Given the description of an element on the screen output the (x, y) to click on. 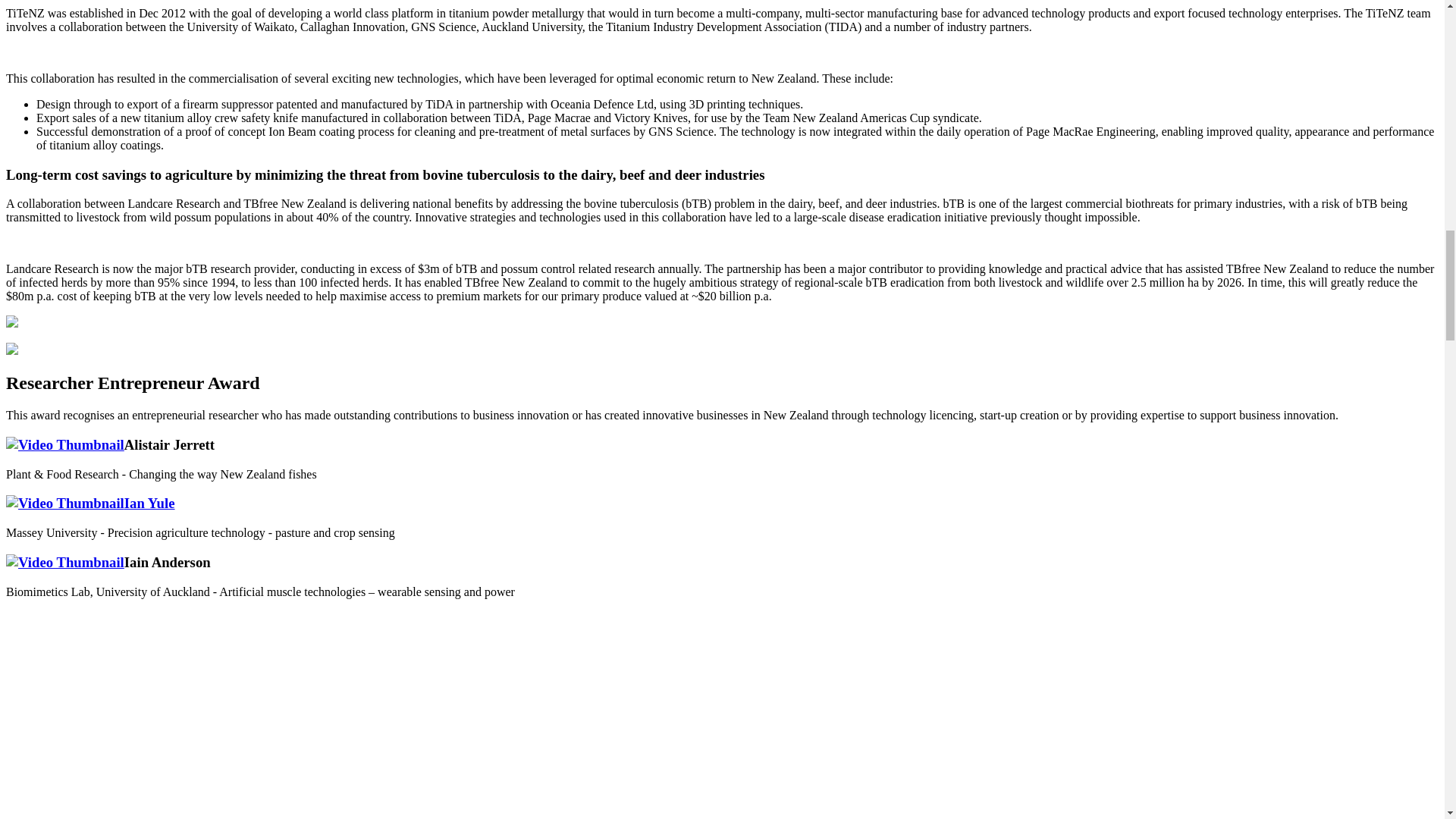
Researcher Entrepreneur Finalist Professors Iain Anderson (64, 562)
Researcher Entrepreneur Finalist Ian Yule (89, 503)
Researcher Entrepreneur Finalist Alistair Jerrett (64, 444)
